Given the description of an element on the screen output the (x, y) to click on. 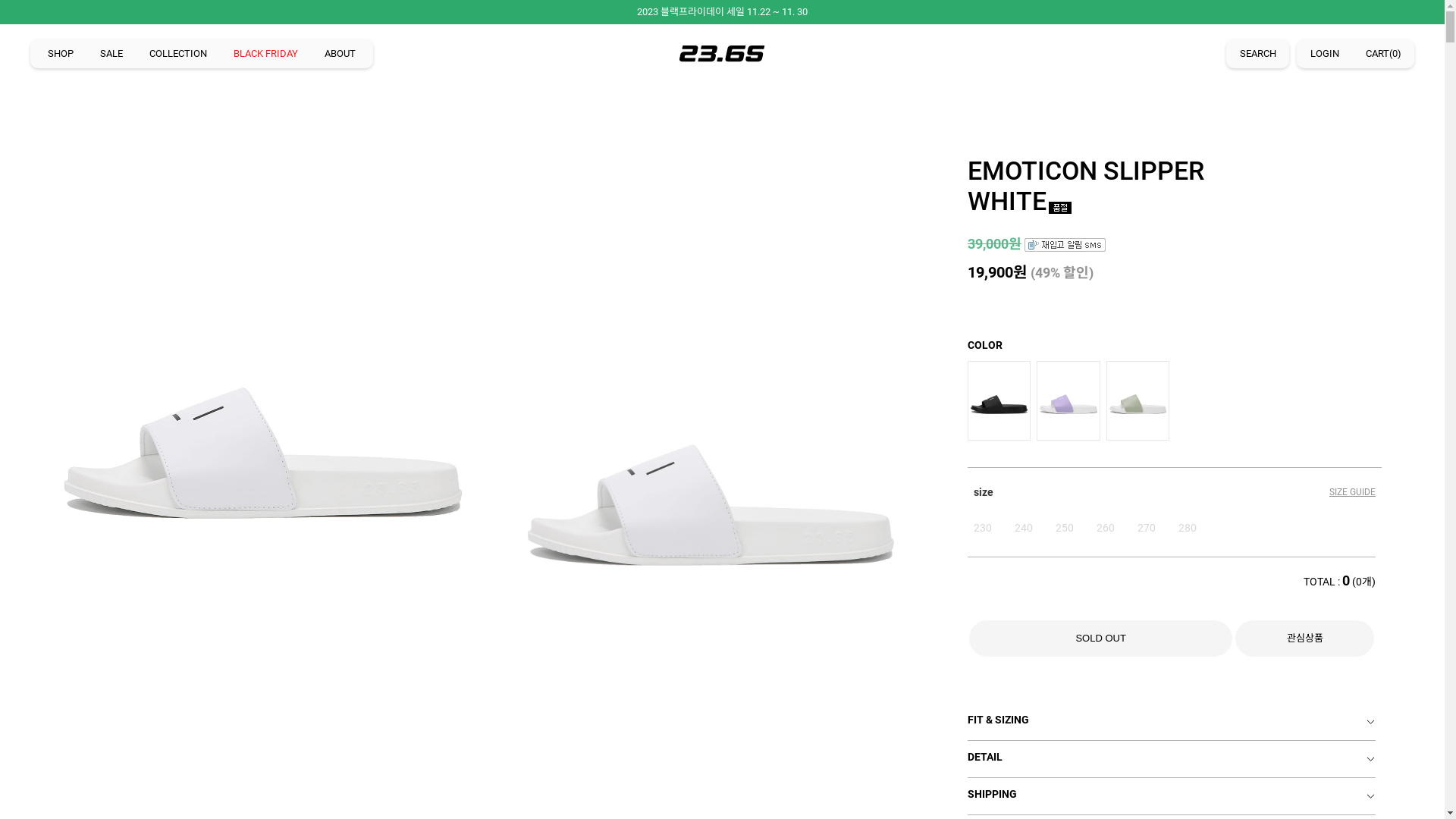
SALE Element type: text (111, 53)
260 Element type: text (1105, 527)
CART(0) Element type: text (1382, 53)
SHOP Element type: text (60, 53)
270 Element type: text (1146, 527)
SEARCH Element type: text (1257, 53)
240 Element type: text (1023, 527)
ABOUT Element type: text (339, 53)
BLACK FRIDAY Element type: text (265, 53)
250 Element type: text (1064, 527)
280 Element type: text (1187, 527)
230 Element type: text (982, 527)
COLLECTION Element type: text (177, 53)
LOGIN Element type: text (1324, 53)
SIZE GUIDE Element type: text (1352, 491)
